Given the description of an element on the screen output the (x, y) to click on. 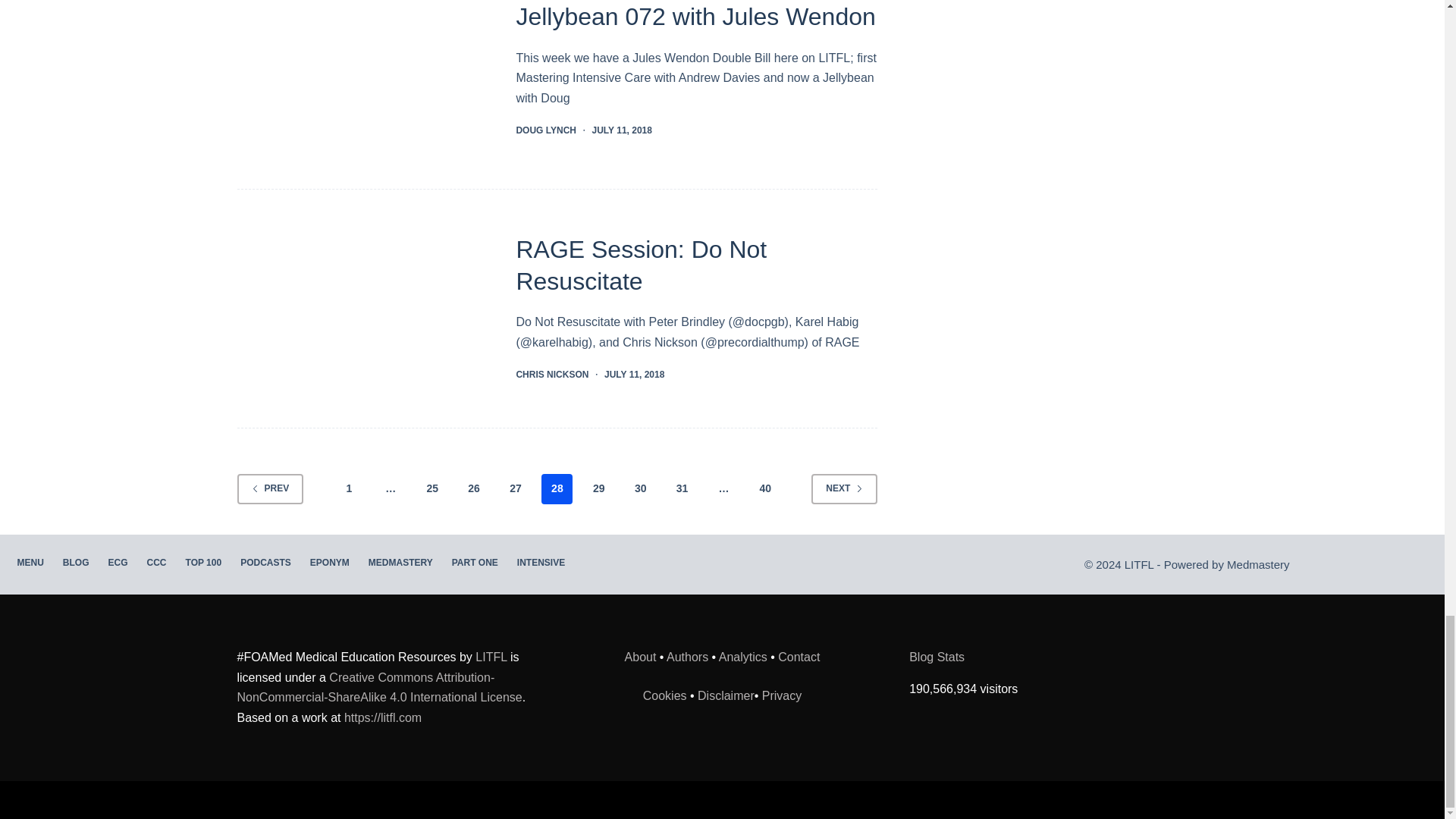
Posts by Chris Nickson (551, 374)
Posts by Doug Lynch (545, 130)
